Given the description of an element on the screen output the (x, y) to click on. 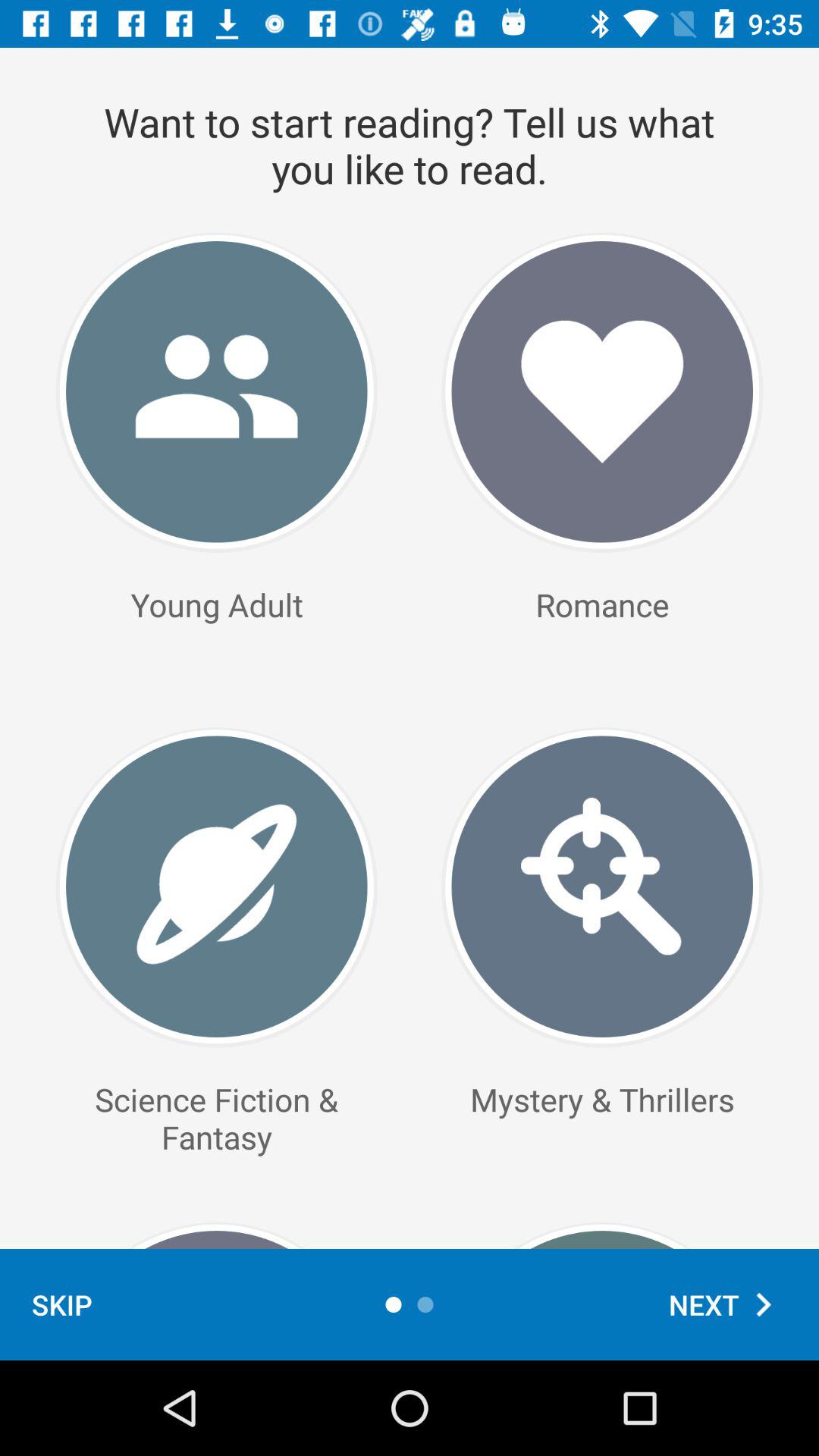
open the next icon (728, 1304)
